Given the description of an element on the screen output the (x, y) to click on. 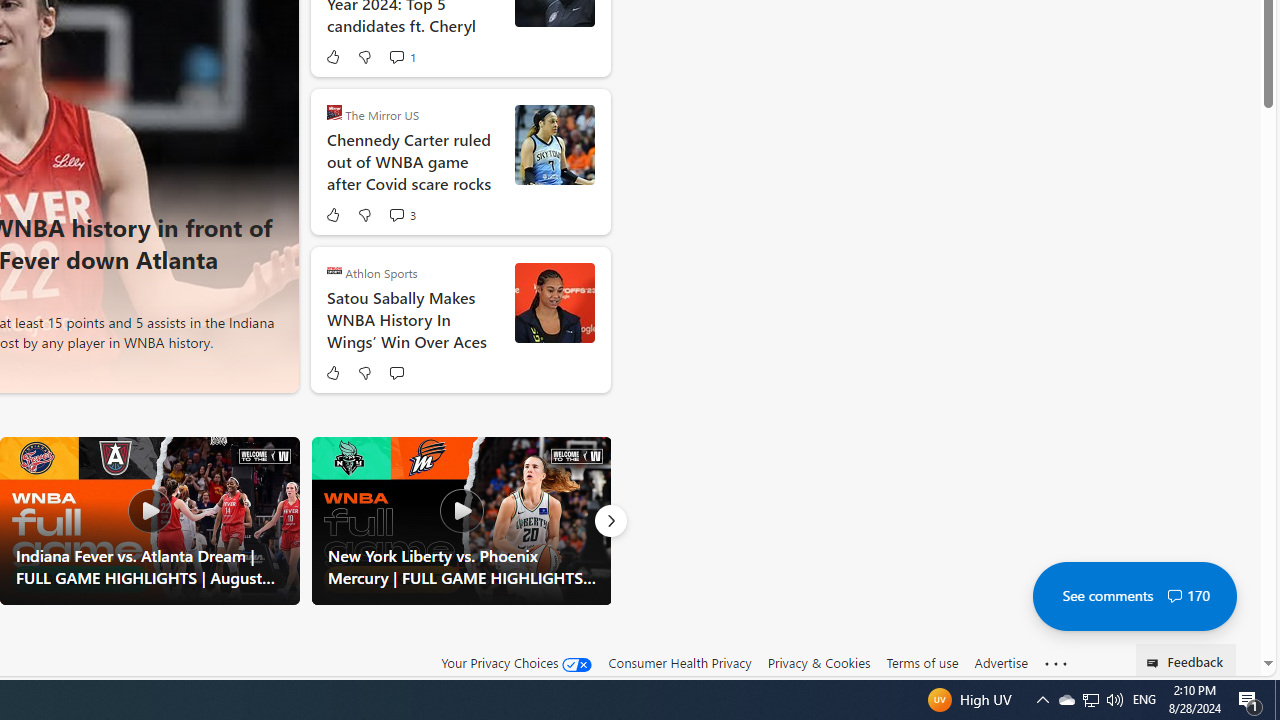
The Mirror US (333, 112)
Privacy & Cookies (818, 663)
See comments 170 (1133, 596)
